Given the description of an element on the screen output the (x, y) to click on. 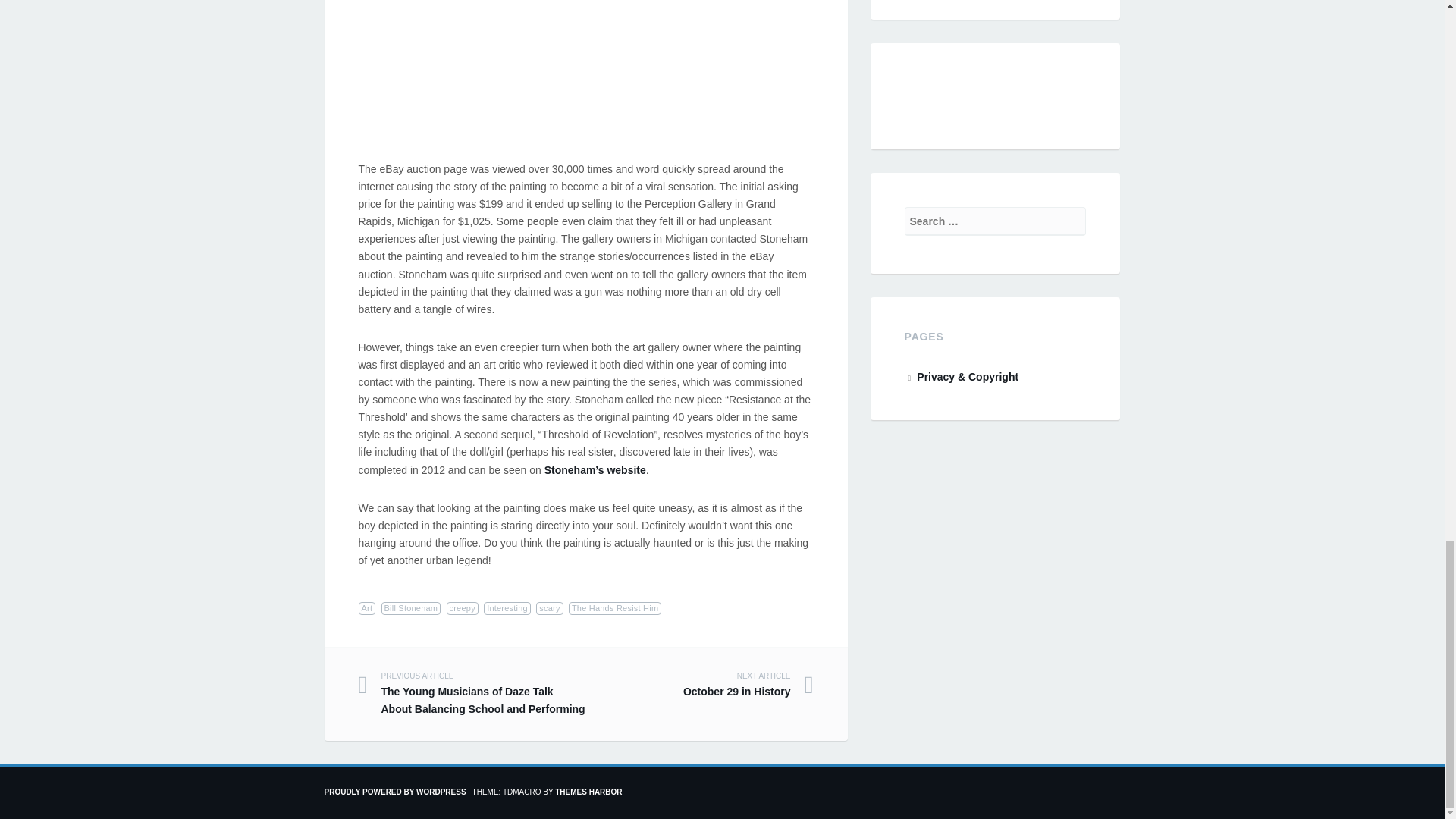
creepy (462, 608)
The Hands Resist Him (615, 608)
Art (698, 685)
Bill Stoneham (366, 608)
Interesting (410, 608)
scary (507, 608)
